Given the description of an element on the screen output the (x, y) to click on. 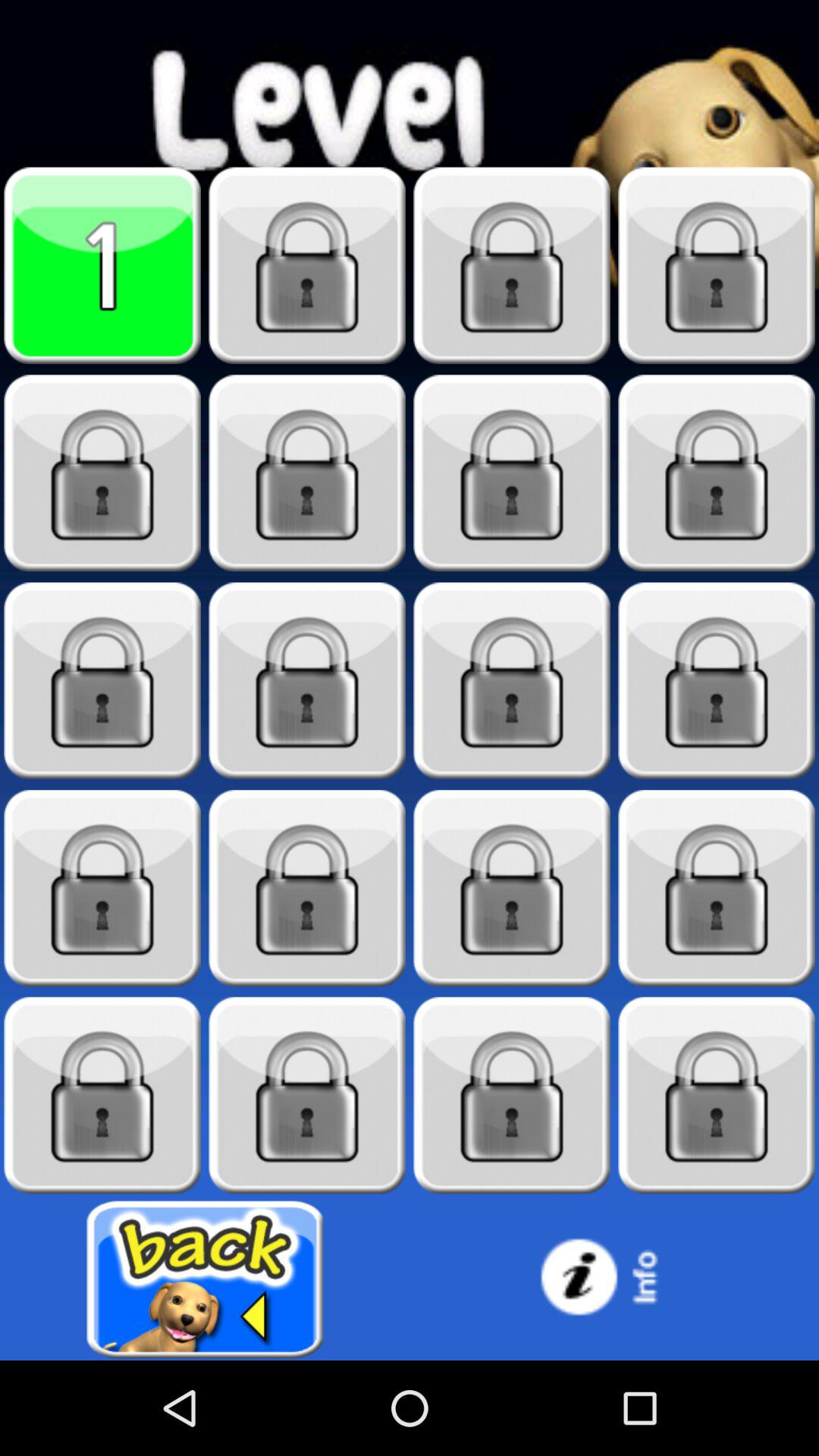
lock number 16 (102, 1094)
